Given the description of an element on the screen output the (x, y) to click on. 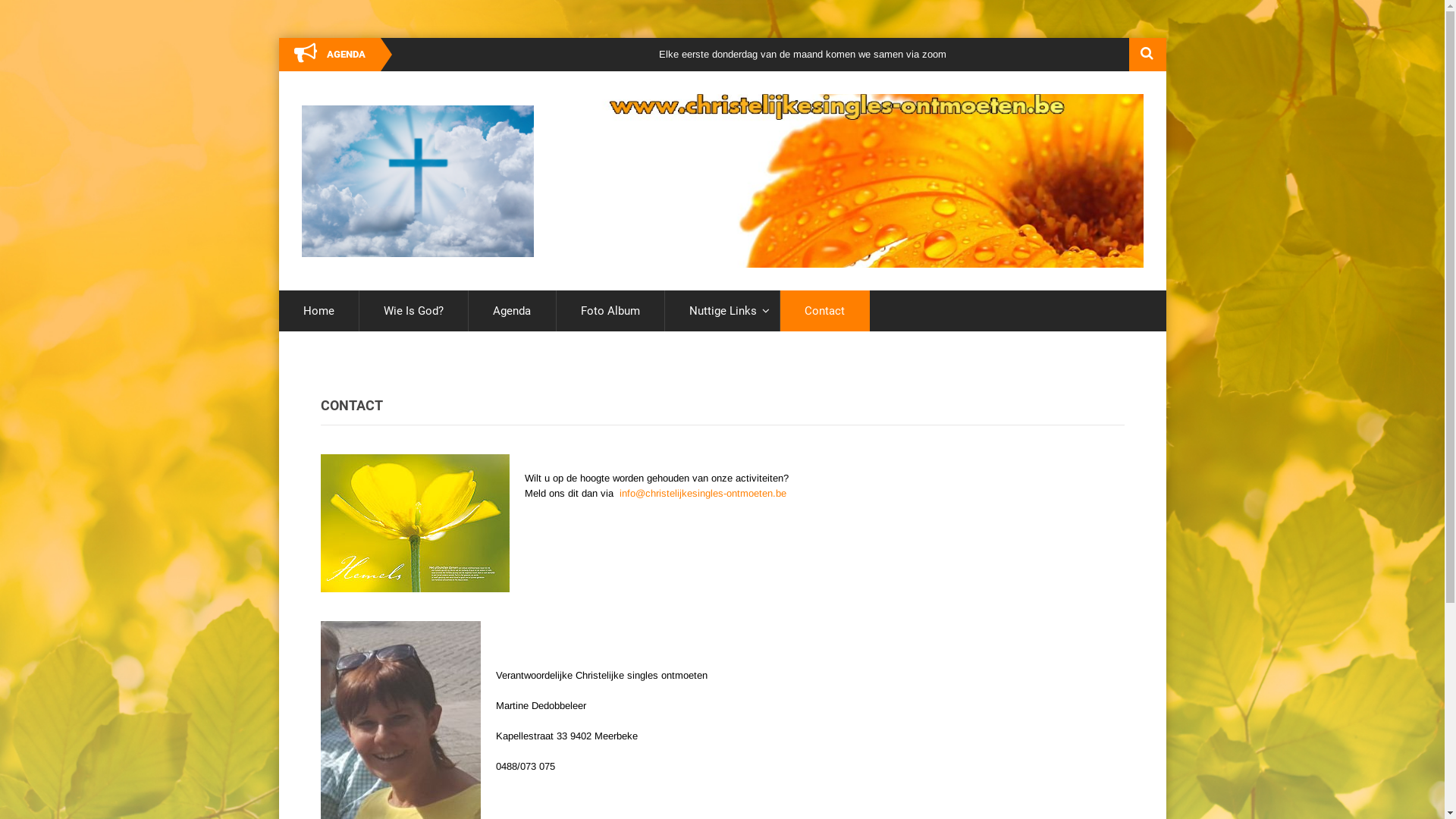
Contact Element type: text (824, 310)
Home Element type: text (318, 310)
Nuttige Links Element type: text (722, 310)
info@christelijkesingles-ontmoeten.be Element type: text (701, 492)
Wie Is God? Element type: text (413, 310)
Agenda Element type: text (511, 310)
Foto Album Element type: text (610, 310)
